Given the description of an element on the screen output the (x, y) to click on. 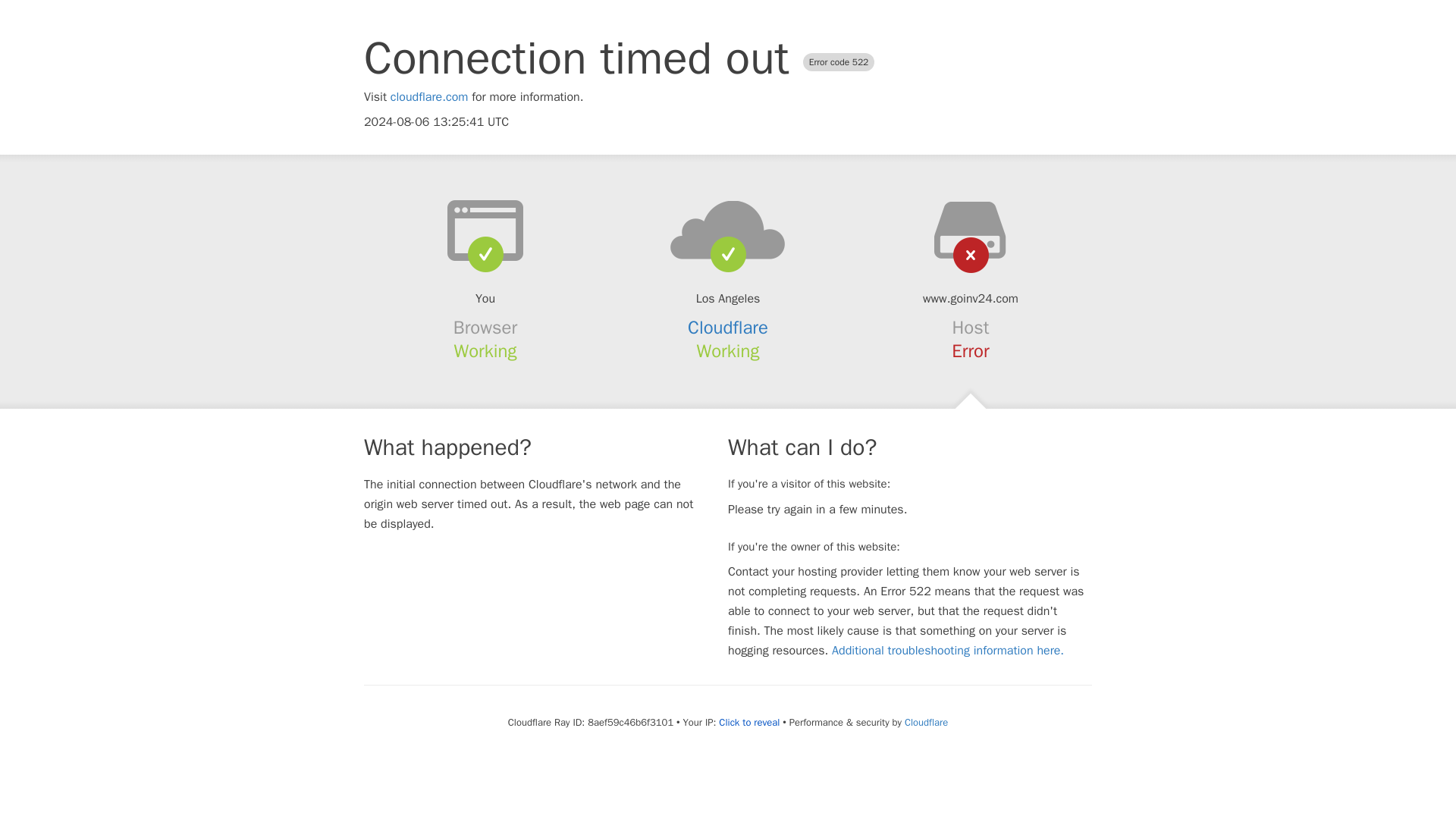
Cloudflare (925, 721)
Additional troubleshooting information here. (947, 650)
Click to reveal (748, 722)
cloudflare.com (429, 96)
Cloudflare (727, 327)
